Given the description of an element on the screen output the (x, y) to click on. 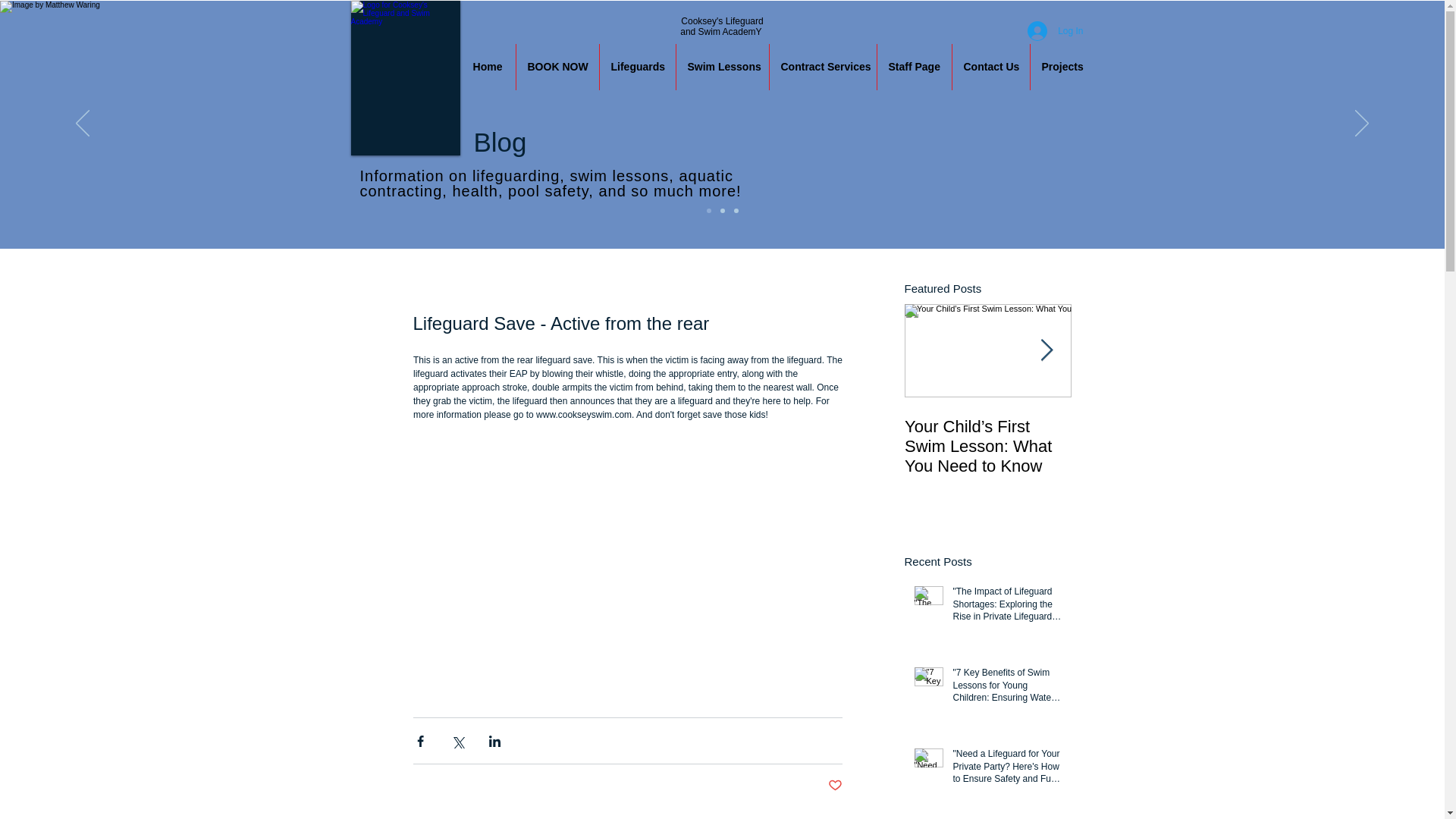
Lifeguards (636, 67)
Log In (1054, 30)
Staff Page (913, 67)
BOOK NOW (556, 67)
Home (487, 67)
Contract Services (822, 67)
Projects (1061, 67)
Contact Us (990, 67)
Swim Lessons (722, 67)
